Given the description of an element on the screen output the (x, y) to click on. 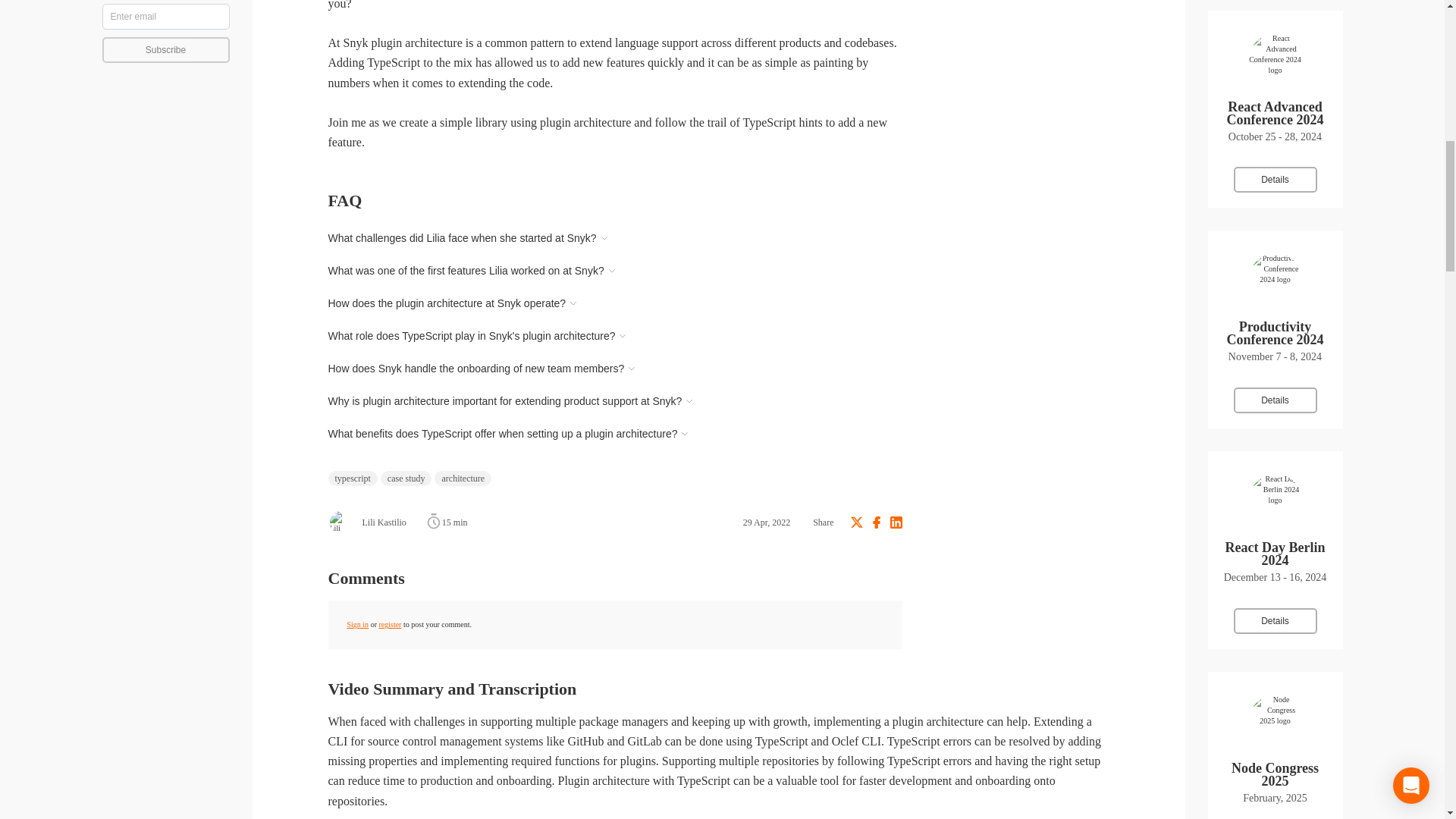
register (389, 623)
typescript (352, 478)
case study (406, 478)
Lili Kastilio (367, 521)
What was one of the first features Lilia worked on at Snyk?  (471, 270)
How does Snyk handle the onboarding of new team members?  (481, 368)
What challenges did Lilia face when she started at Snyk?  (467, 238)
Sign in (358, 623)
architecture (462, 478)
How does the plugin architecture at Snyk operate?  (452, 303)
